Given the description of an element on the screen output the (x, y) to click on. 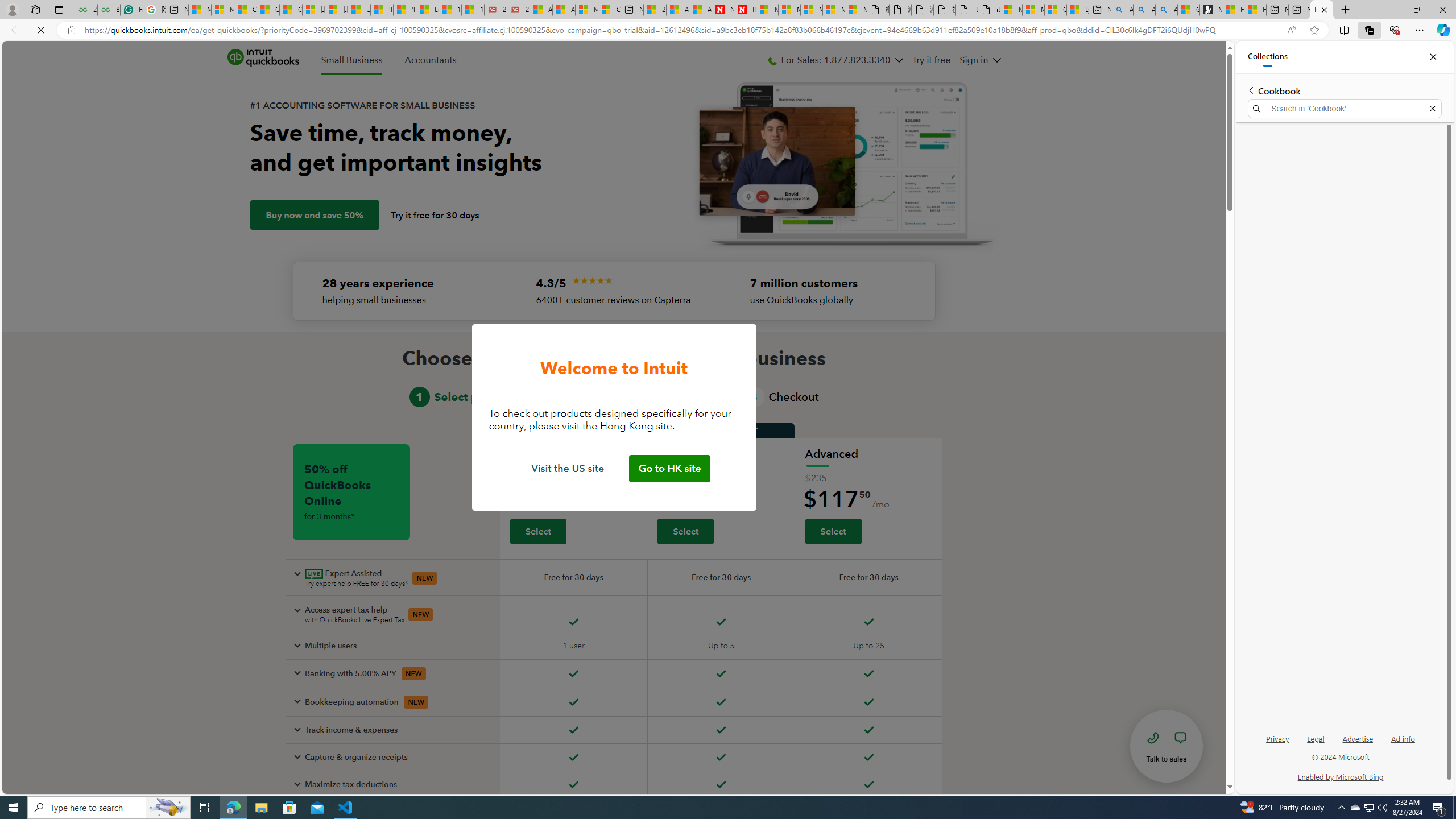
Small Business (351, 60)
Try it free for 30 days (434, 214)
Select advanced (833, 531)
Free AI Writing Assistance for Students | Grammarly (131, 9)
Image Alt Text (592, 280)
25 Basic Linux Commands For Beginners - GeeksforGeeks (85, 9)
Cloud Computing Services | Microsoft Azure (609, 9)
